Given the description of an element on the screen output the (x, y) to click on. 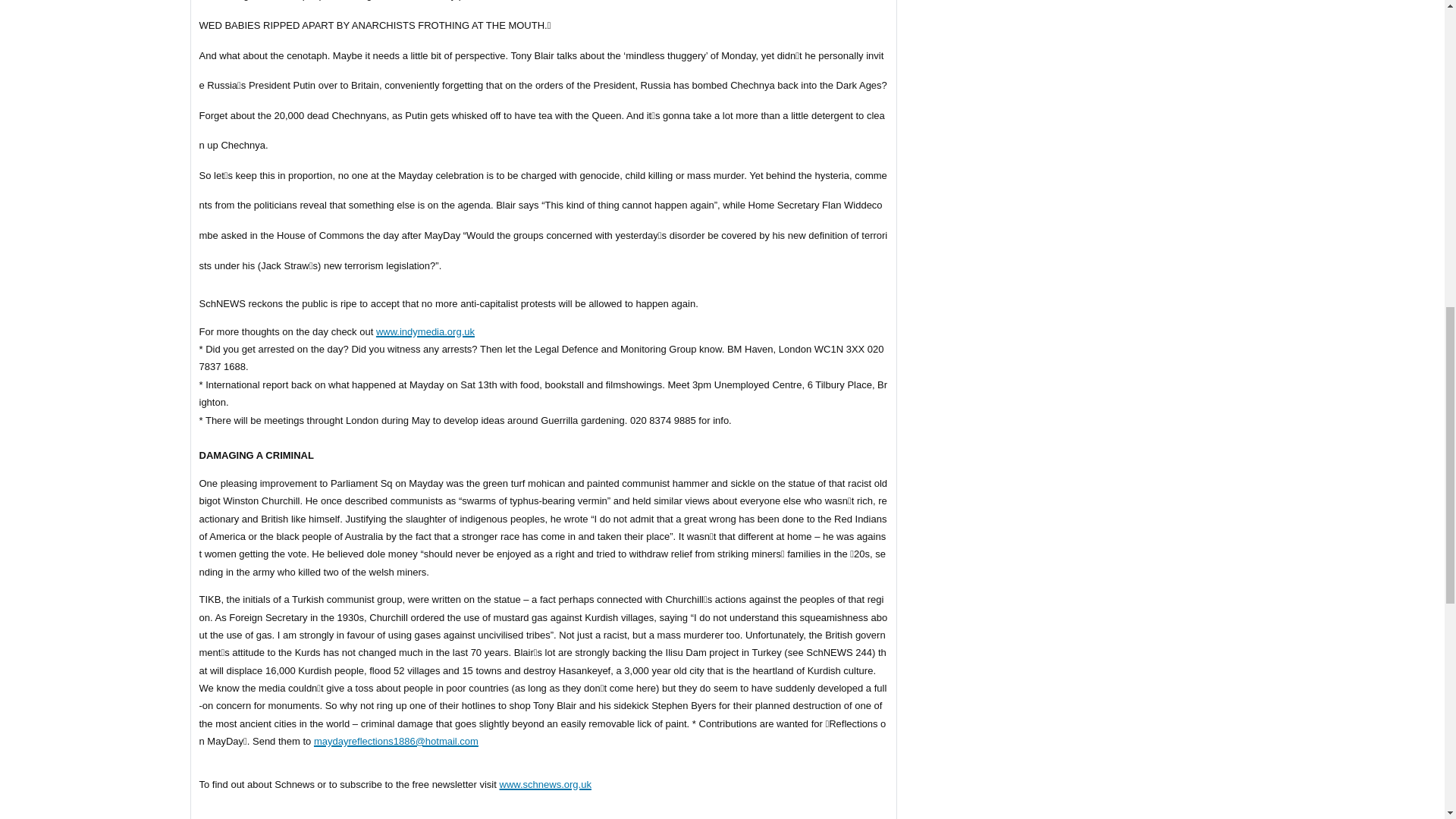
www.schnews.org.uk (545, 784)
www.indymedia.org.uk (424, 331)
